Given the description of an element on the screen output the (x, y) to click on. 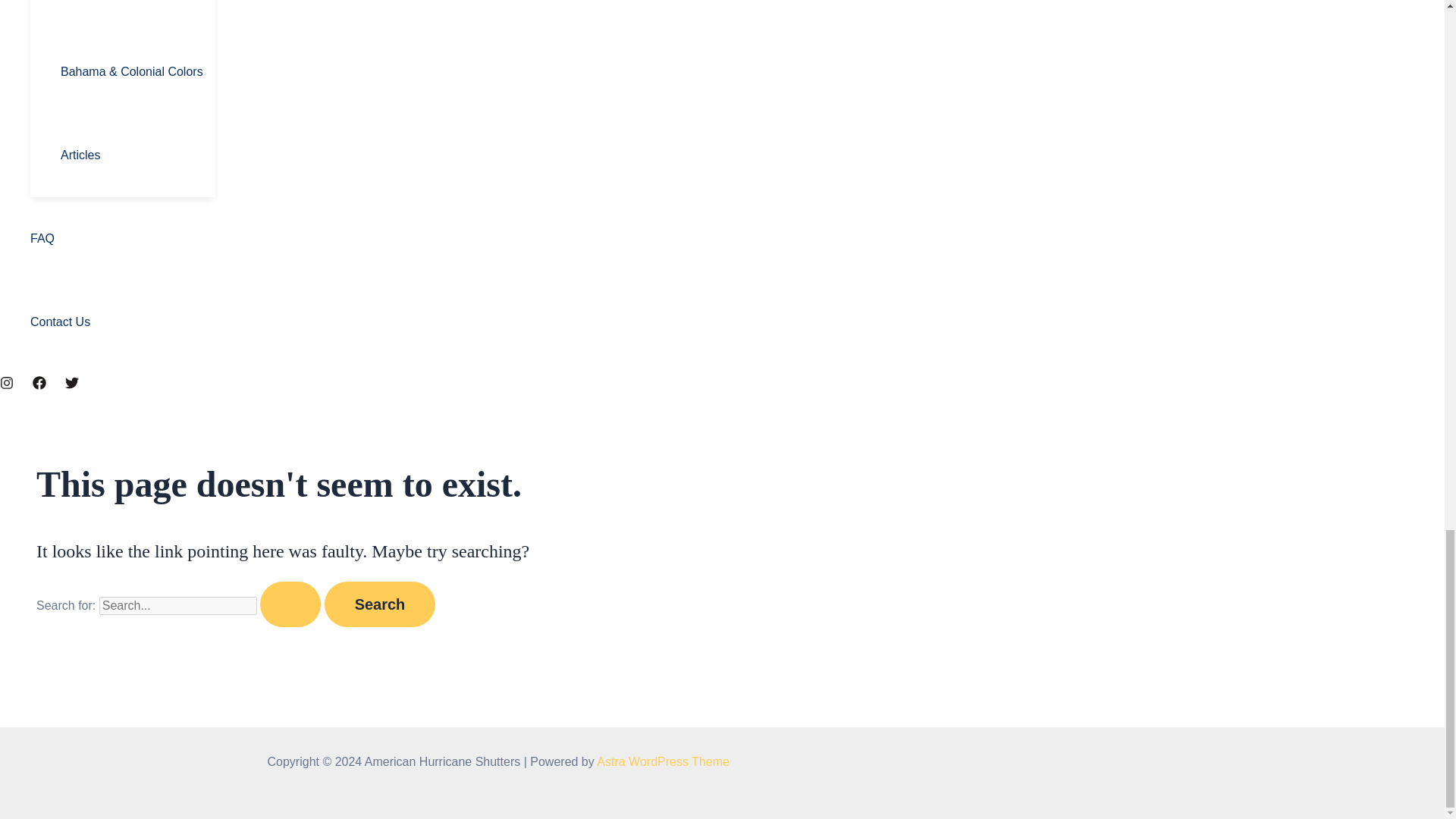
Maintenance Guide (138, 15)
Search (379, 604)
Search (379, 604)
FAQ (122, 238)
Contact Us (122, 321)
Articles (138, 155)
